Given the description of an element on the screen output the (x, y) to click on. 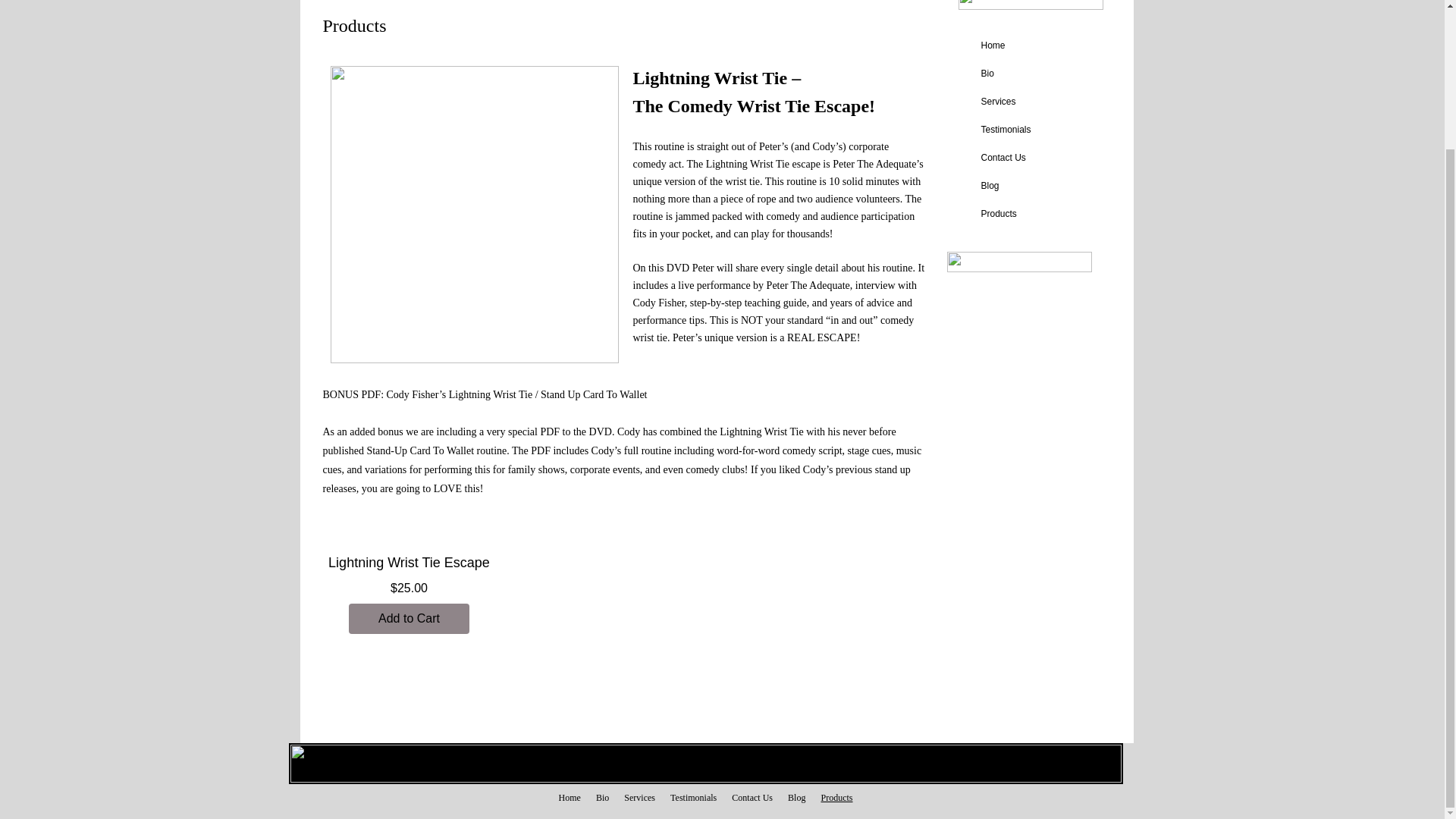
Services (638, 797)
Bio (601, 797)
Contact Us (1003, 157)
Blog (796, 797)
Add to Cart (409, 618)
Home (993, 45)
Contact Us (751, 797)
Testimonials (692, 797)
Home (569, 797)
Products (999, 213)
Services (998, 101)
Testimonials (1006, 129)
Products (836, 797)
Bio (987, 73)
Blog (990, 185)
